Given the description of an element on the screen output the (x, y) to click on. 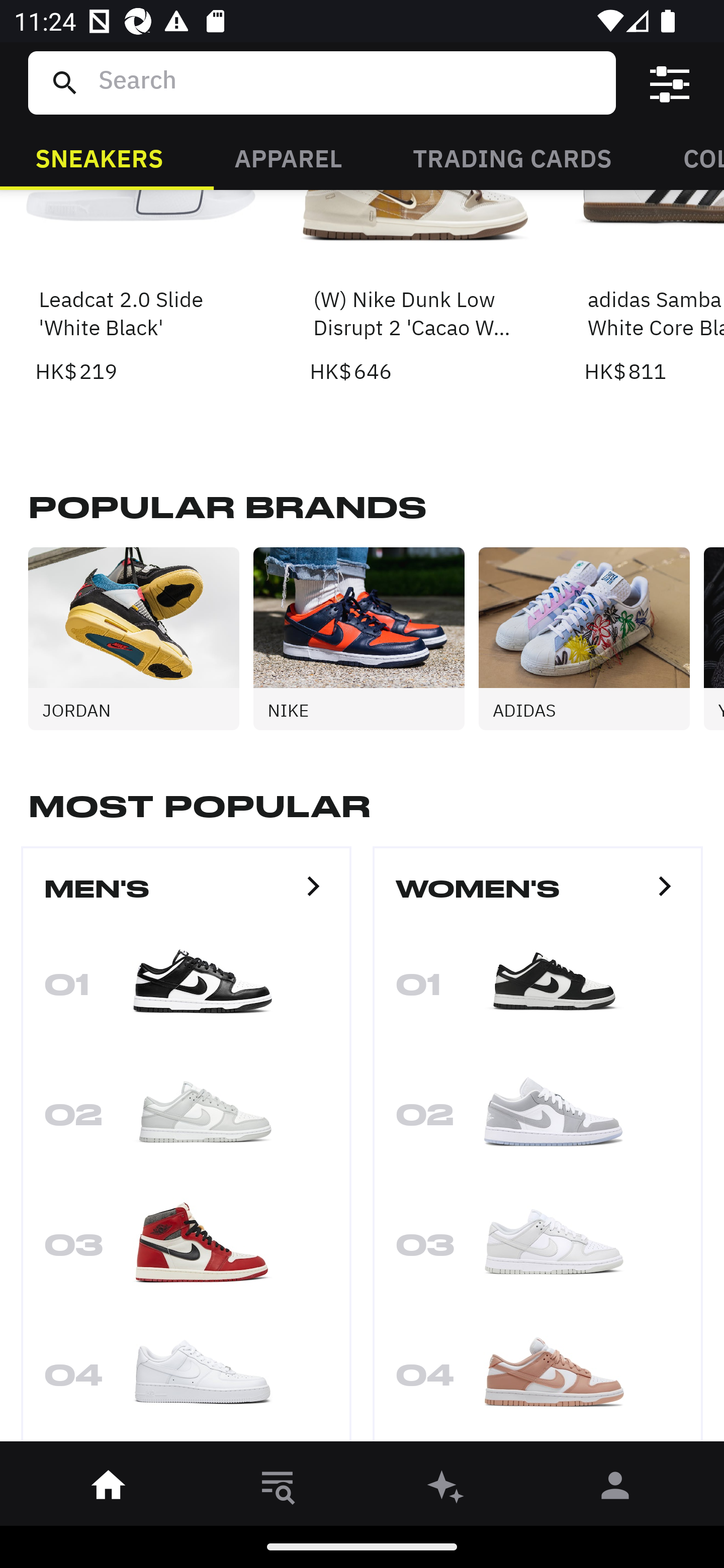
Search (349, 82)
 (669, 82)
SNEAKERS (99, 156)
APPAREL (287, 156)
TRADING CARDS (512, 156)
Leadcat 2.0 Slide 'White Black' HK$ 219 (140, 288)
adidas Samba 'Cloud White Core Black' HK$ 811 (654, 288)
JORDAN (140, 638)
NIKE (365, 638)
ADIDAS (590, 638)
MEN'S  (186, 896)
WOMEN'S  (538, 896)
01 (186, 990)
01 (538, 990)
02 (186, 1120)
02 (538, 1120)
03 (186, 1250)
03 (538, 1250)
04 (186, 1380)
04 (538, 1380)
󰋜 (108, 1488)
󱎸 (277, 1488)
󰫢 (446, 1488)
󰀄 (615, 1488)
